Given the description of an element on the screen output the (x, y) to click on. 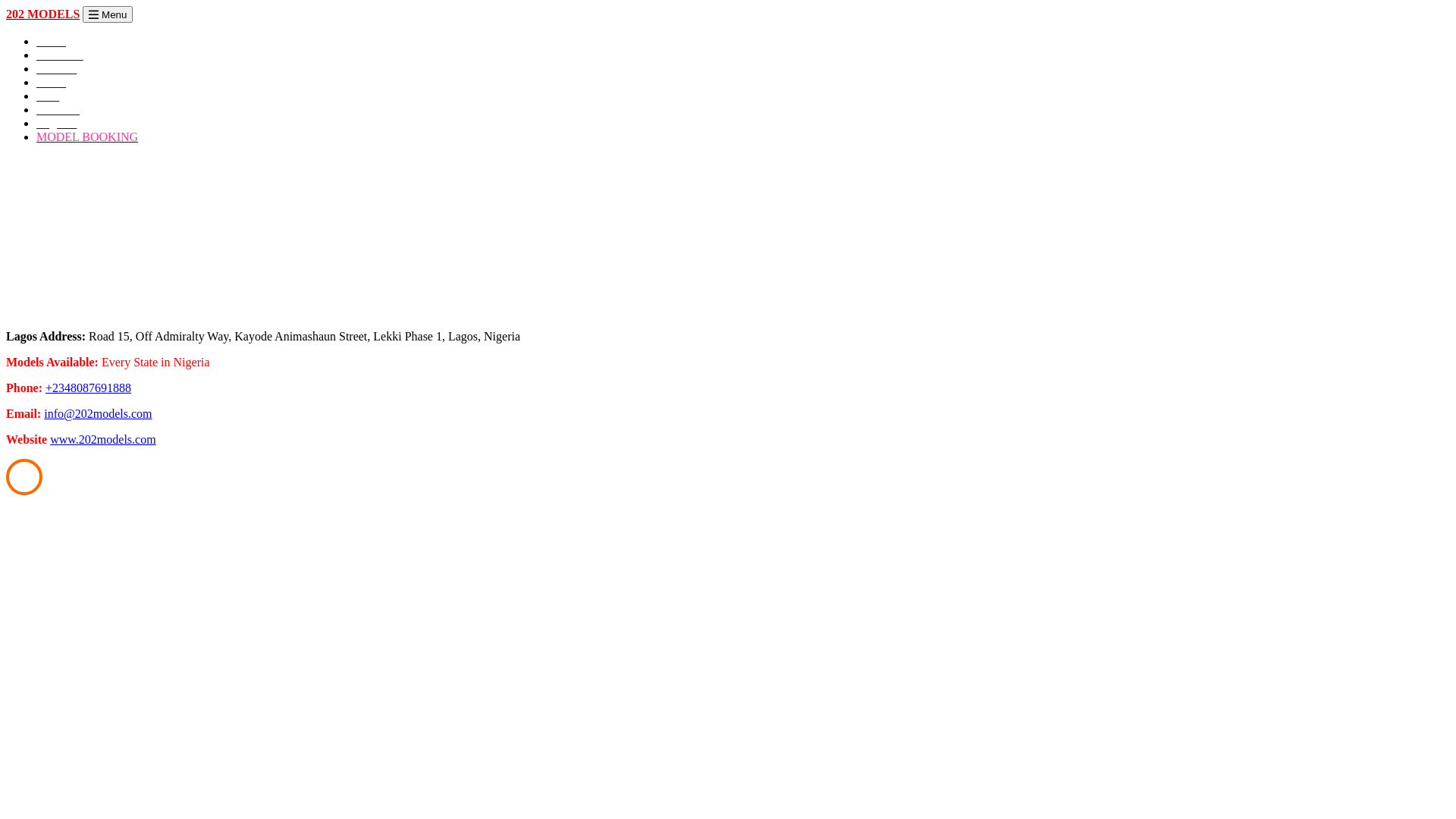
Kids Element type: text (47, 95)
202 MODELS Element type: text (42, 13)
Portfolio Element type: text (57, 109)
About Us Element type: text (59, 54)
MODEL BOOKING Element type: text (87, 136)
Menu Element type: text (107, 14)
Register Element type: text (56, 122)
Home Element type: text (50, 40)
Males Element type: text (50, 81)
info@202models.com Element type: text (97, 413)
+2348087691888 Element type: text (88, 387)
www.202models.com Element type: text (102, 439)
Females Element type: text (56, 68)
